Given the description of an element on the screen output the (x, y) to click on. 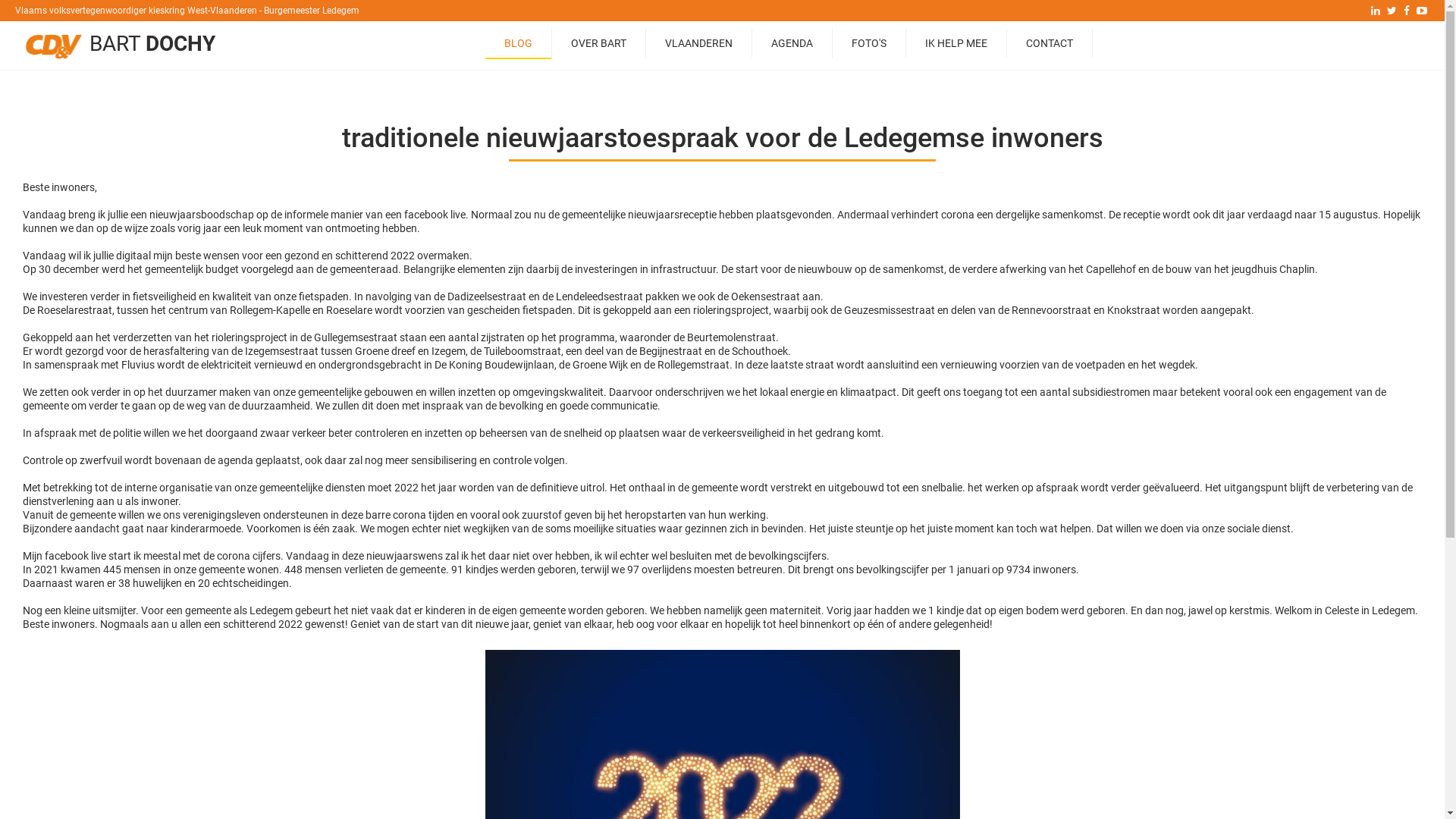
Bart op Facebook Element type: hover (1406, 10)
BLOG Element type: text (518, 43)
OVER BART Element type: text (598, 42)
AGENDA Element type: text (791, 42)
cd&v Element type: hover (53, 46)
IK HELP MEE Element type: text (956, 42)
BART DOCHY Element type: text (152, 43)
Bart op Linkedin Element type: hover (1375, 10)
Bart op Youtube Element type: hover (1421, 10)
FOTO'S Element type: text (868, 42)
VLAANDEREN Element type: text (698, 42)
Bart op twitter Element type: hover (1391, 10)
CONTACT Element type: text (1049, 42)
